Given the description of an element on the screen output the (x, y) to click on. 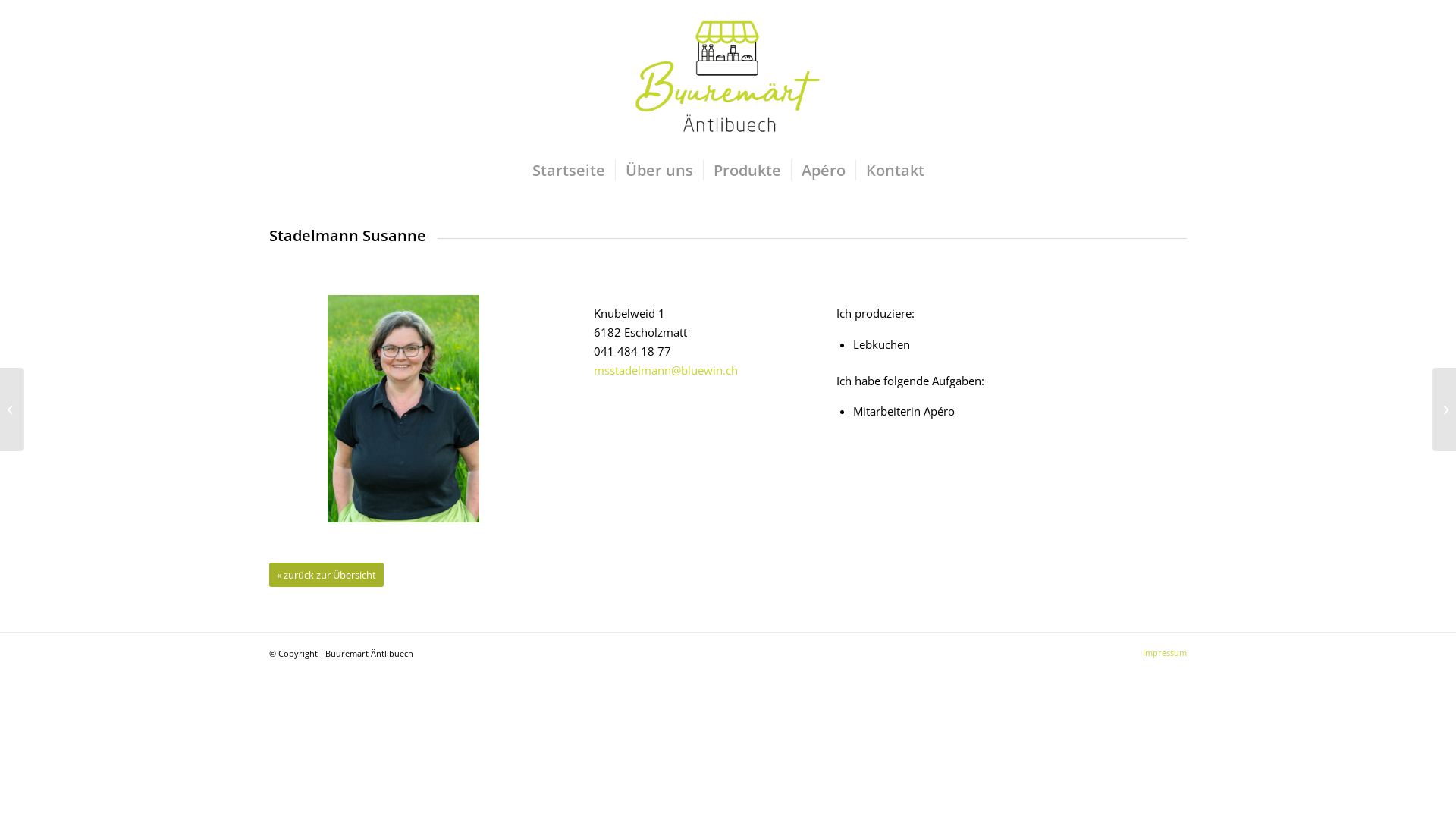
msstadelmann@bluewin.ch Element type: text (665, 369)
Startseite Element type: text (567, 170)
Stadelmann Susanne Element type: hover (403, 407)
Kontakt Element type: text (894, 170)
Produkte Element type: text (746, 170)
Impressum Element type: text (1164, 652)
